Given the description of an element on the screen output the (x, y) to click on. 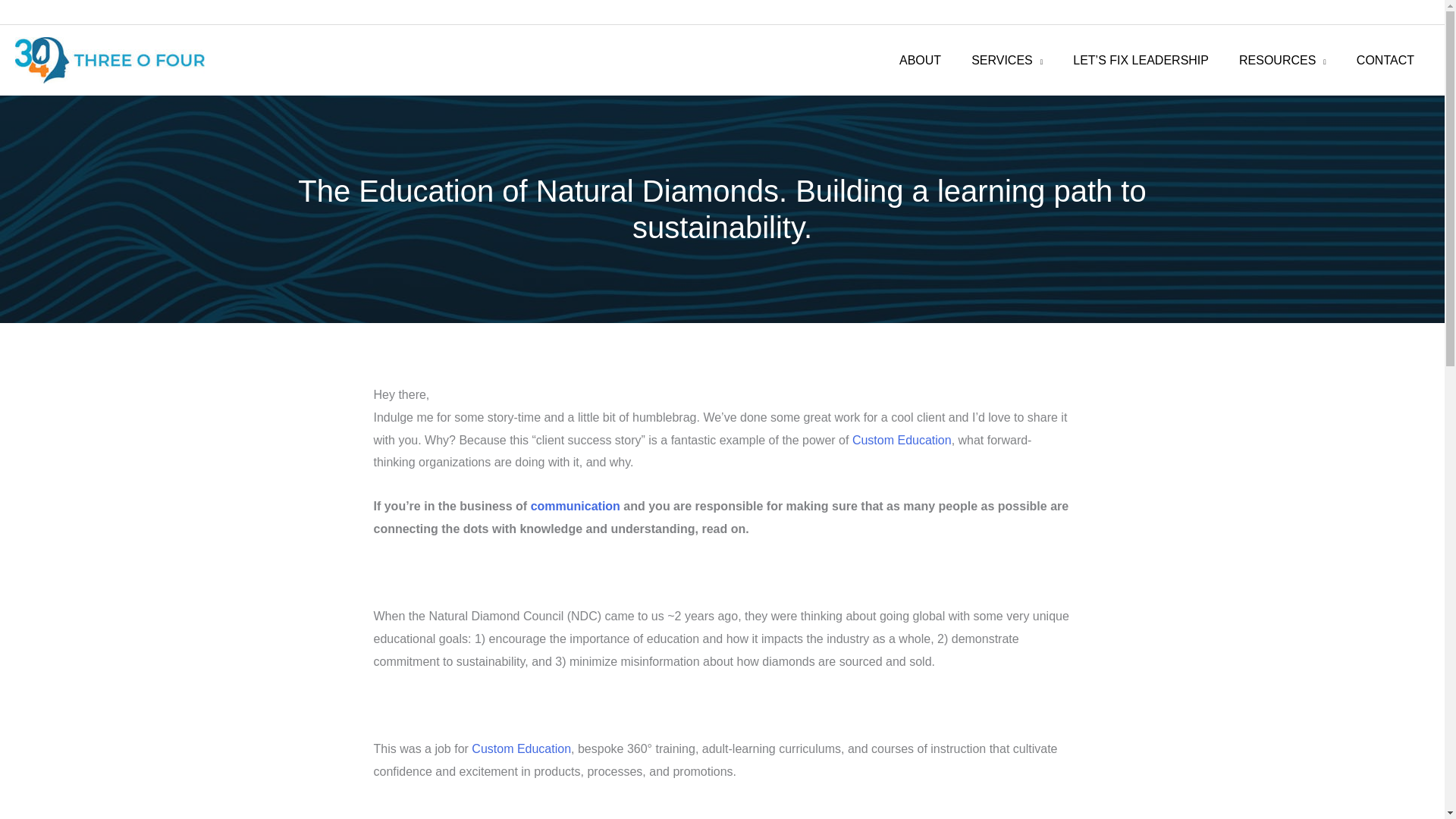
communication (575, 505)
CONTACT (1384, 60)
Custom Education (520, 748)
Custom Education (901, 440)
RESOURCES (1282, 60)
SERVICES (1007, 60)
ABOUT (919, 60)
972-910-2060 (1391, 11)
